Given the description of an element on the screen output the (x, y) to click on. 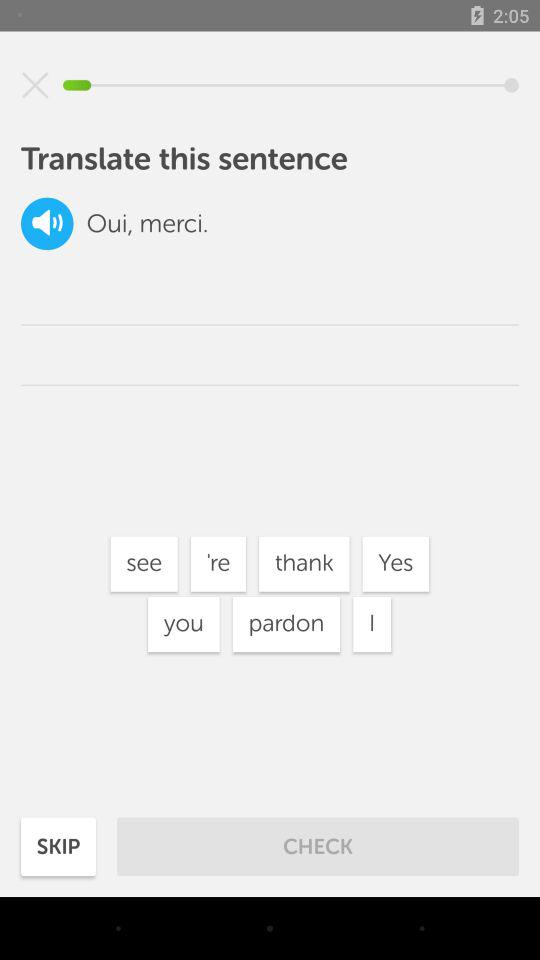
tap item below the merci. item (218, 563)
